Given the description of an element on the screen output the (x, y) to click on. 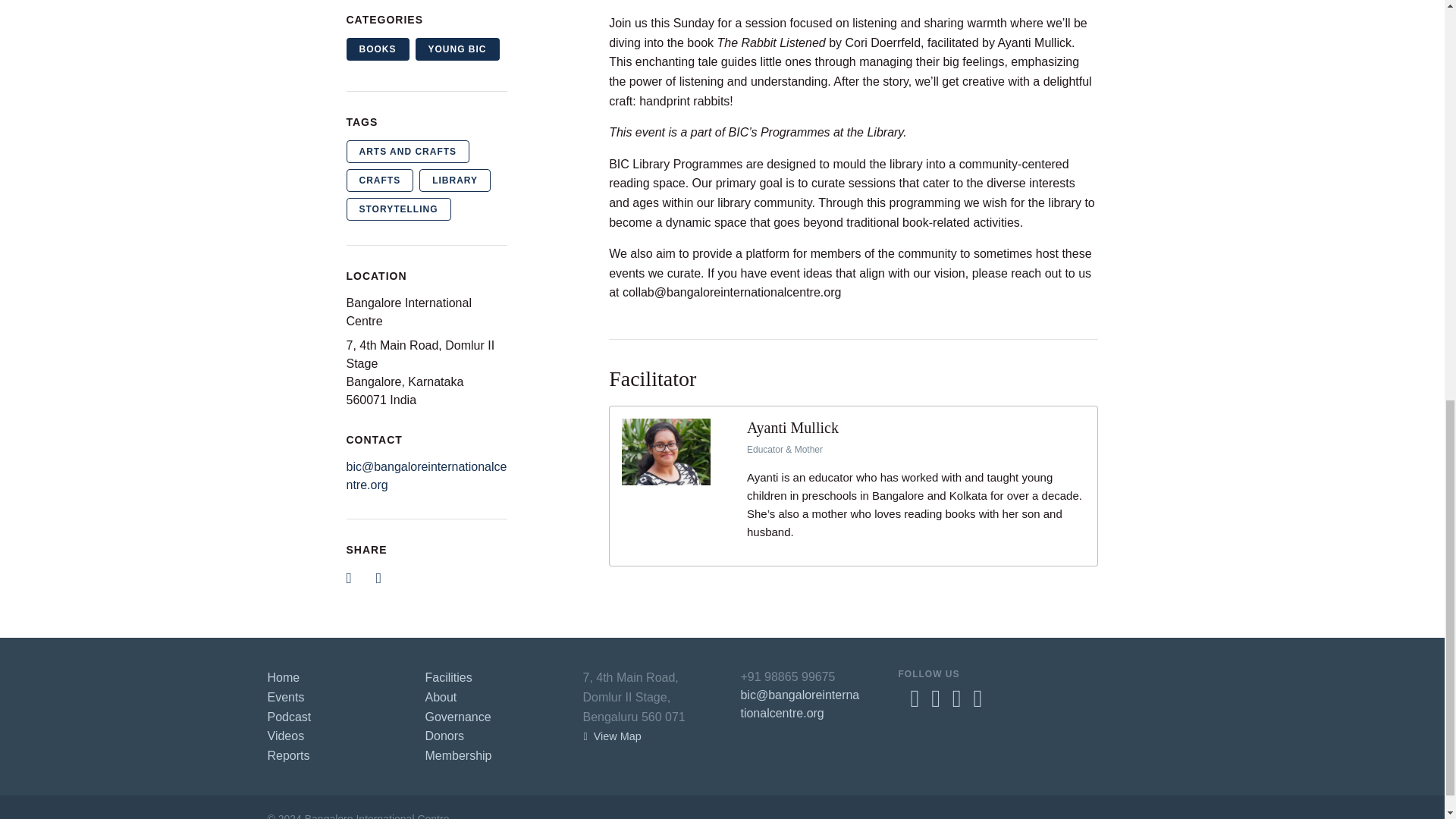
View Map (612, 736)
BOOKS (377, 48)
LIBRARY (454, 179)
YOUNG BIC (456, 48)
ARTS AND CRAFTS (407, 151)
STORYTELLING (397, 209)
CRAFTS (379, 179)
Karnataka (435, 381)
